Given the description of an element on the screen output the (x, y) to click on. 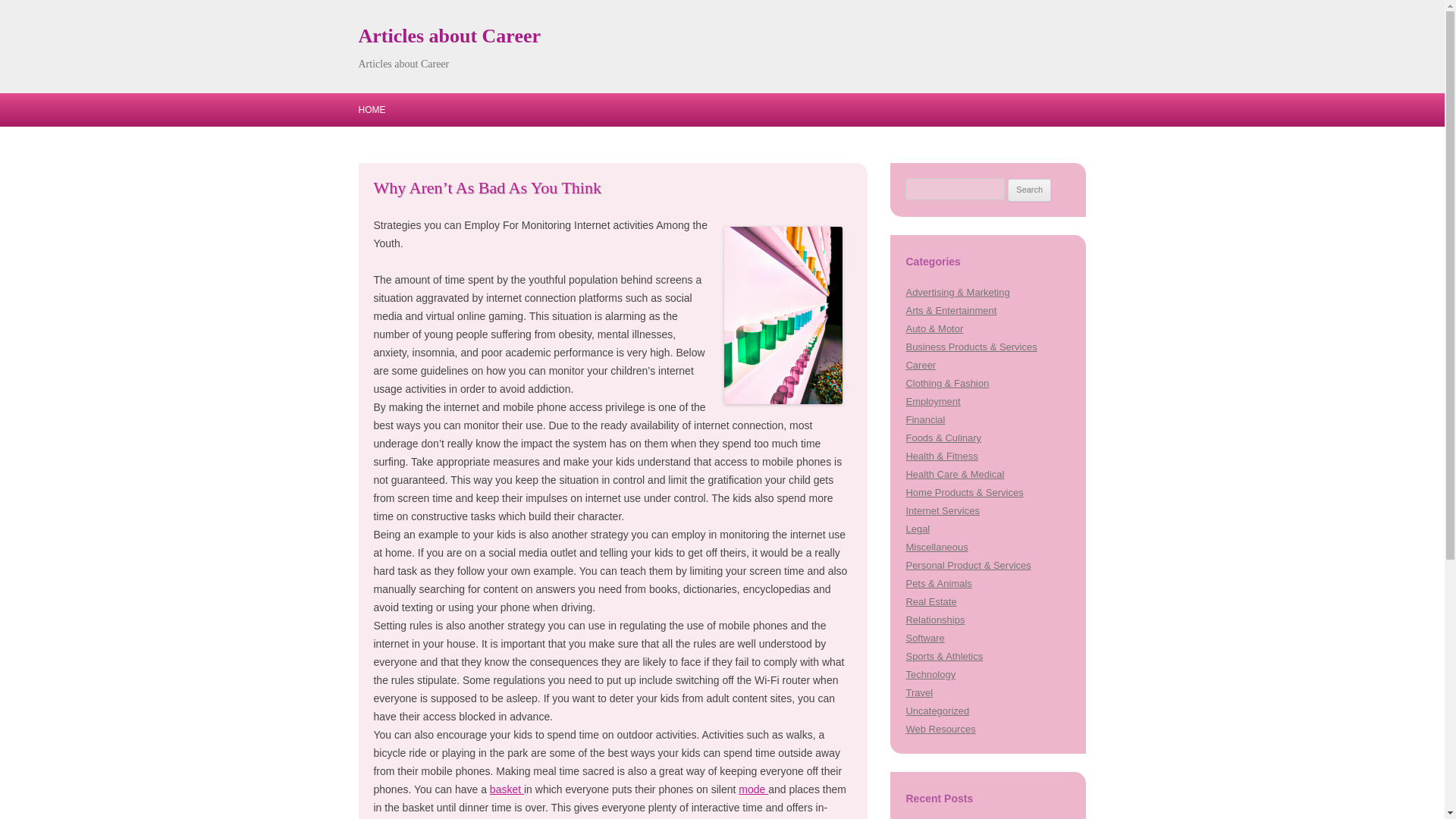
mode (753, 788)
Legal (917, 528)
Travel (919, 692)
basket (506, 788)
Articles about Career (449, 36)
Web Resources (940, 728)
Articles about Career (449, 36)
Miscellaneous (936, 546)
Uncategorized (937, 710)
Employment (932, 401)
Real Estate (930, 601)
Search (1029, 190)
Technology (930, 674)
Career (920, 365)
